Given the description of an element on the screen output the (x, y) to click on. 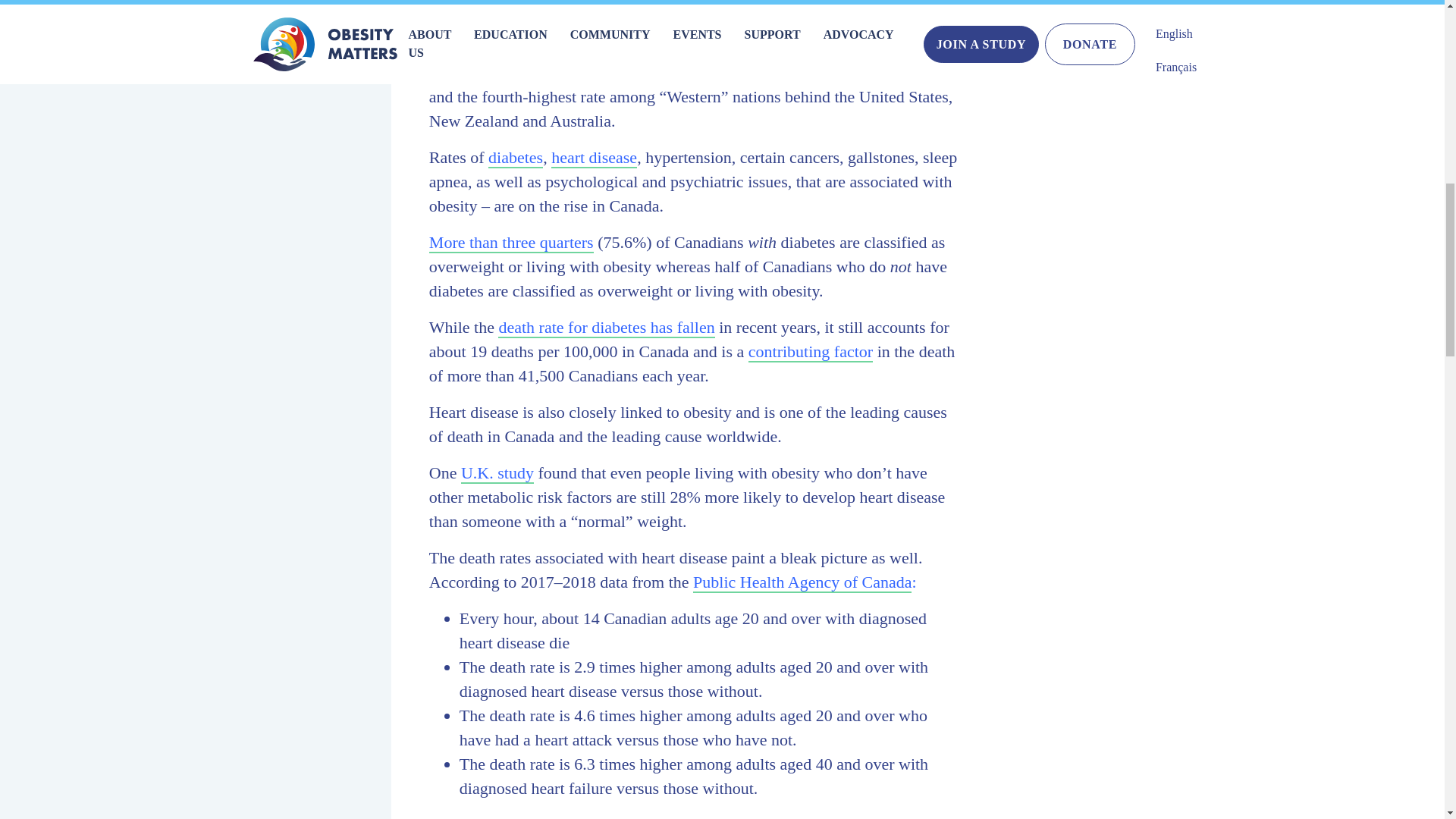
contributing factor (810, 352)
30th highest rate of obesity (655, 73)
Public Health Agency of Canada (802, 582)
diabetes (515, 158)
More than three quarters (511, 242)
U.K. study (497, 473)
death rate for diabetes has fallen (605, 327)
heart disease (594, 158)
